Given the description of an element on the screen output the (x, y) to click on. 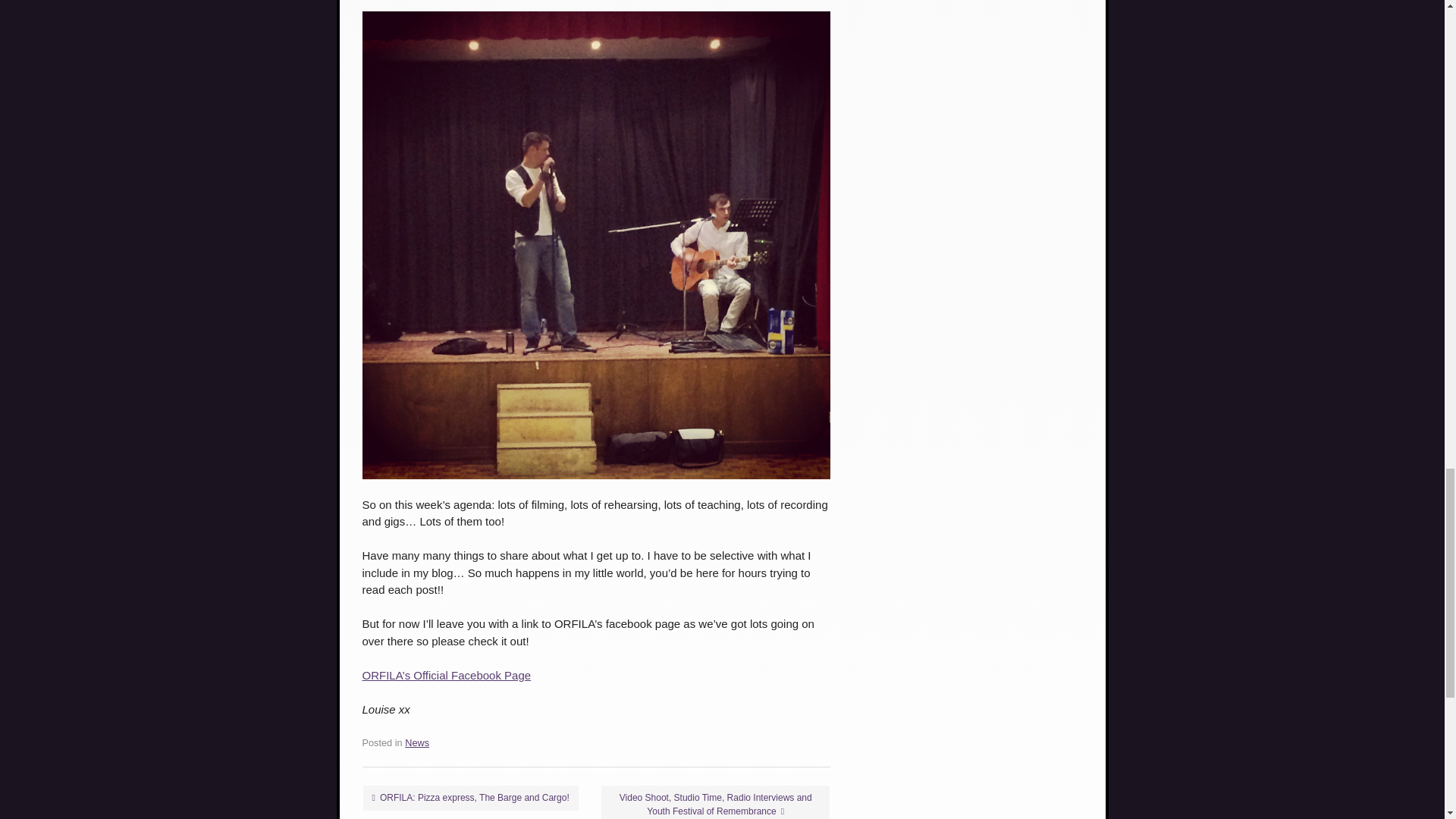
News (416, 742)
ORFILA: Pizza express, The Barge and Cargo! (470, 797)
